Given the description of an element on the screen output the (x, y) to click on. 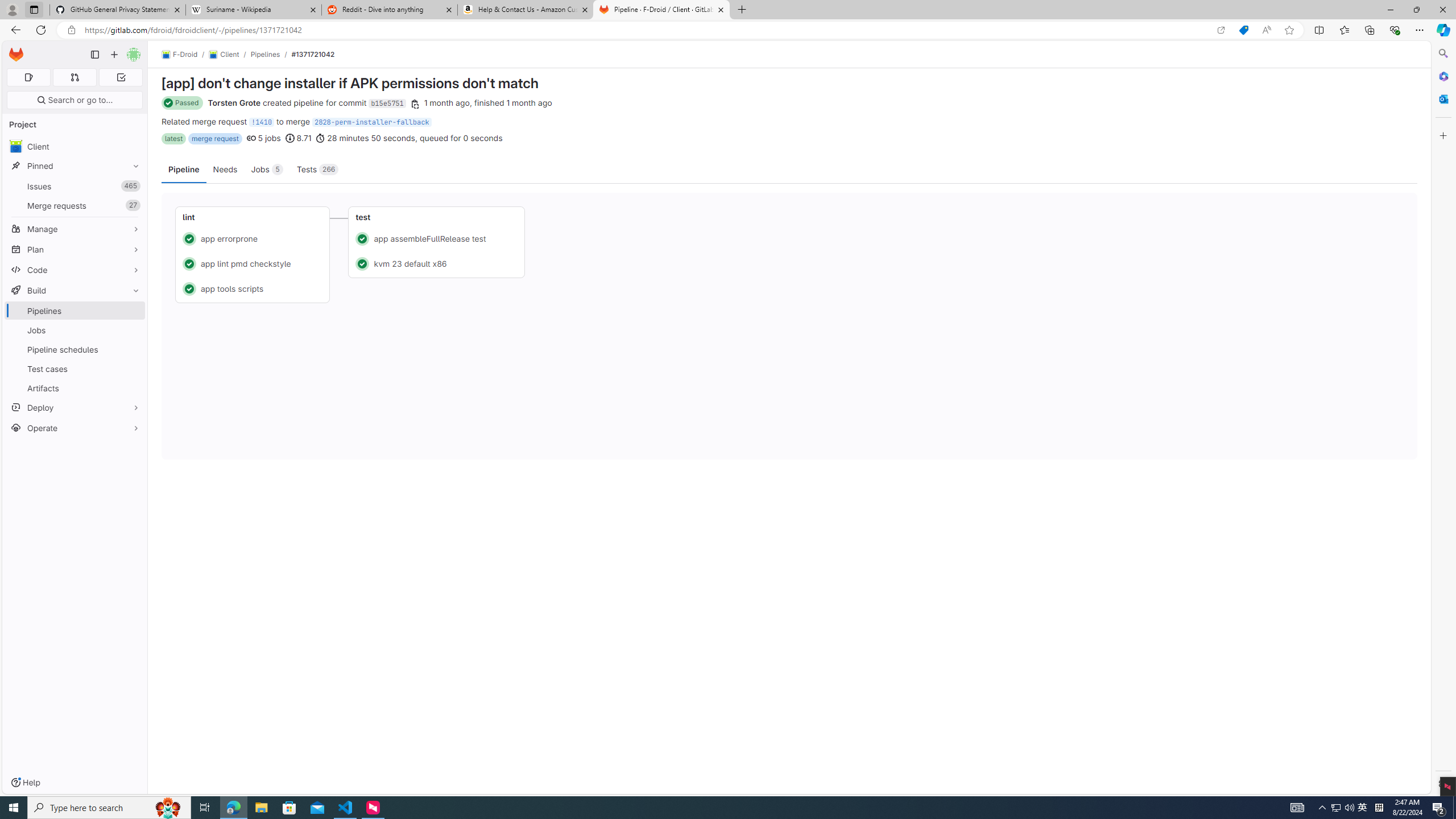
Code (74, 269)
BuildPipelinesJobsPipeline schedulesTest casesArtifacts (74, 338)
GitHub General Privacy Statement - GitHub Docs (117, 9)
Operate (74, 427)
Client/ (229, 54)
Client (223, 54)
Pin Jobs (132, 329)
Homepage (16, 54)
Jobs (74, 330)
Pipeline schedules (74, 348)
Merge requests 0 (74, 76)
Reddit - Dive into anything (390, 9)
